Given the description of an element on the screen output the (x, y) to click on. 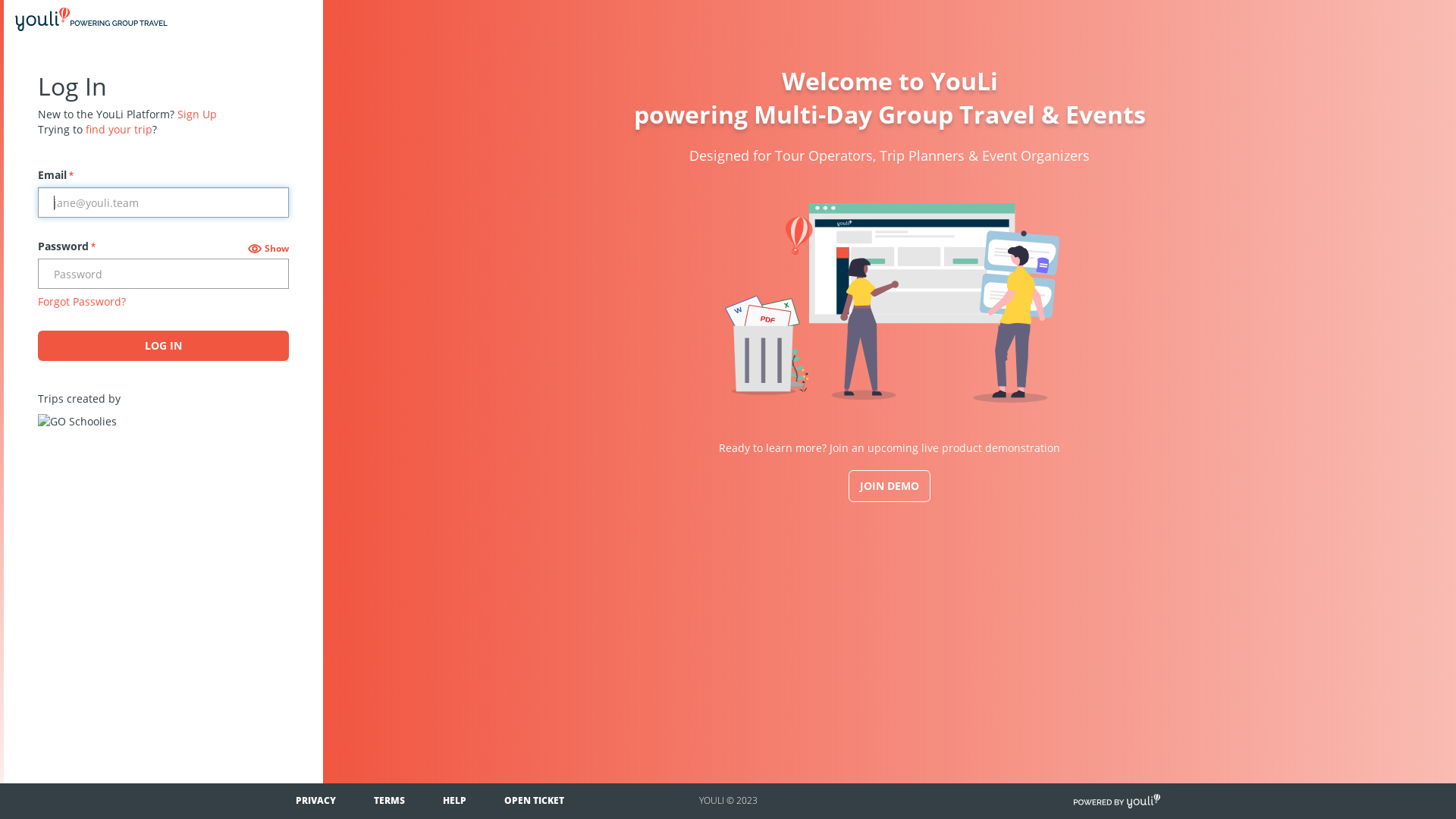
find your trip Element type: text (118, 129)
HELP Element type: text (454, 799)
Show Element type: text (267, 248)
JOIN DEMO Element type: text (889, 486)
Forgot Password? Element type: text (81, 301)
TERMS Element type: text (388, 799)
Sign Up Element type: text (196, 113)
PRIVACY Element type: text (315, 799)
LOG IN Element type: text (162, 345)
OPEN TICKET Element type: text (534, 799)
